Given the description of an element on the screen output the (x, y) to click on. 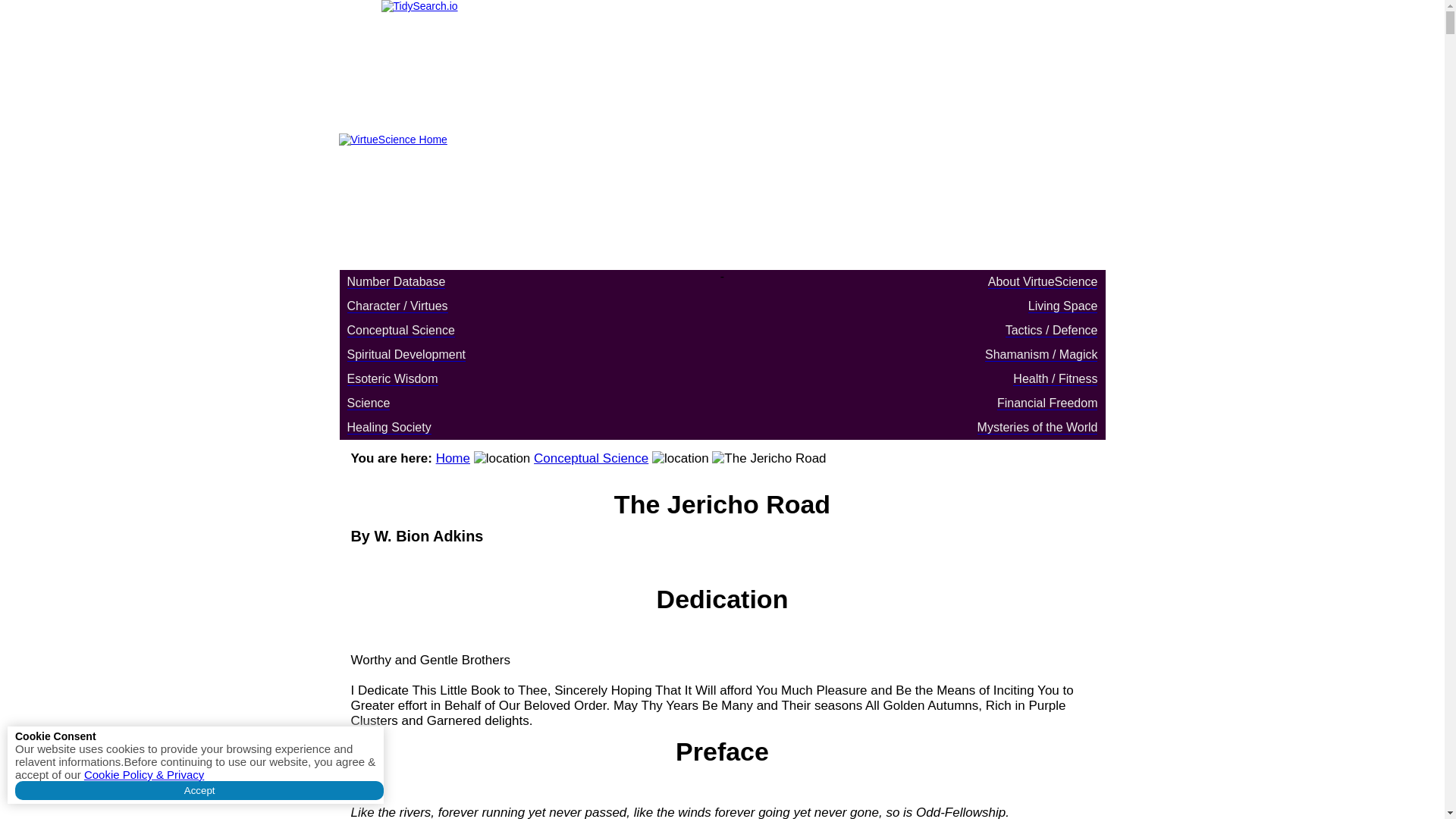
Accept (199, 790)
Esoteric Wisdom (392, 378)
Living Space (1062, 305)
Mysteries of the World (1036, 427)
TidySearch.io (721, 60)
Science (368, 403)
Number Database (396, 282)
Home (452, 458)
Conceptual Science (590, 458)
Spiritual Development (406, 354)
